Given the description of an element on the screen output the (x, y) to click on. 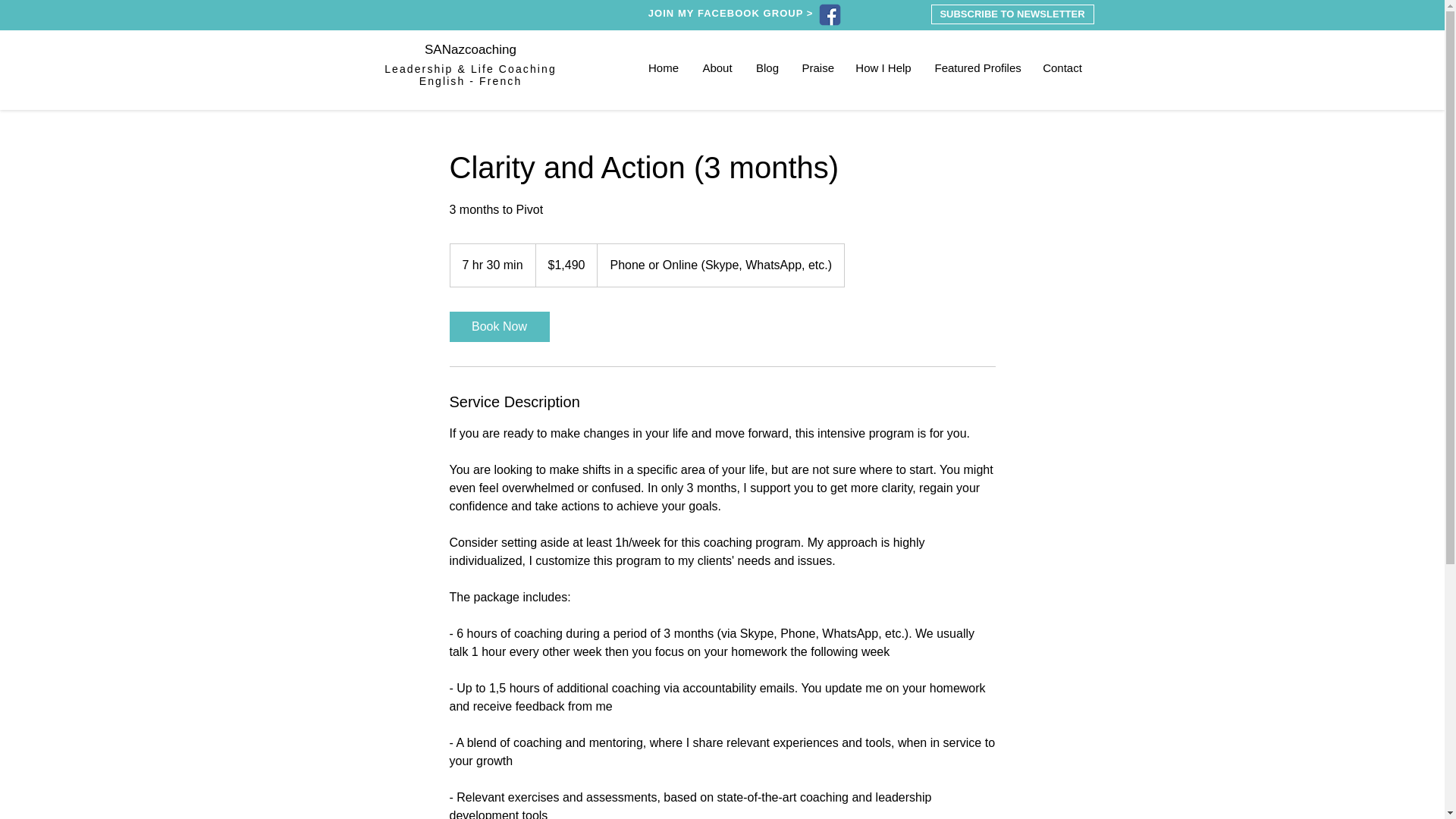
Blog (767, 67)
About (717, 67)
SANazcoaching (470, 49)
Praise (816, 67)
Contact (1062, 67)
Book Now (498, 327)
Featured Profiles (976, 67)
Home (663, 67)
SUBSCRIBE TO NEWSLETTER (1012, 14)
